Given the description of an element on the screen output the (x, y) to click on. 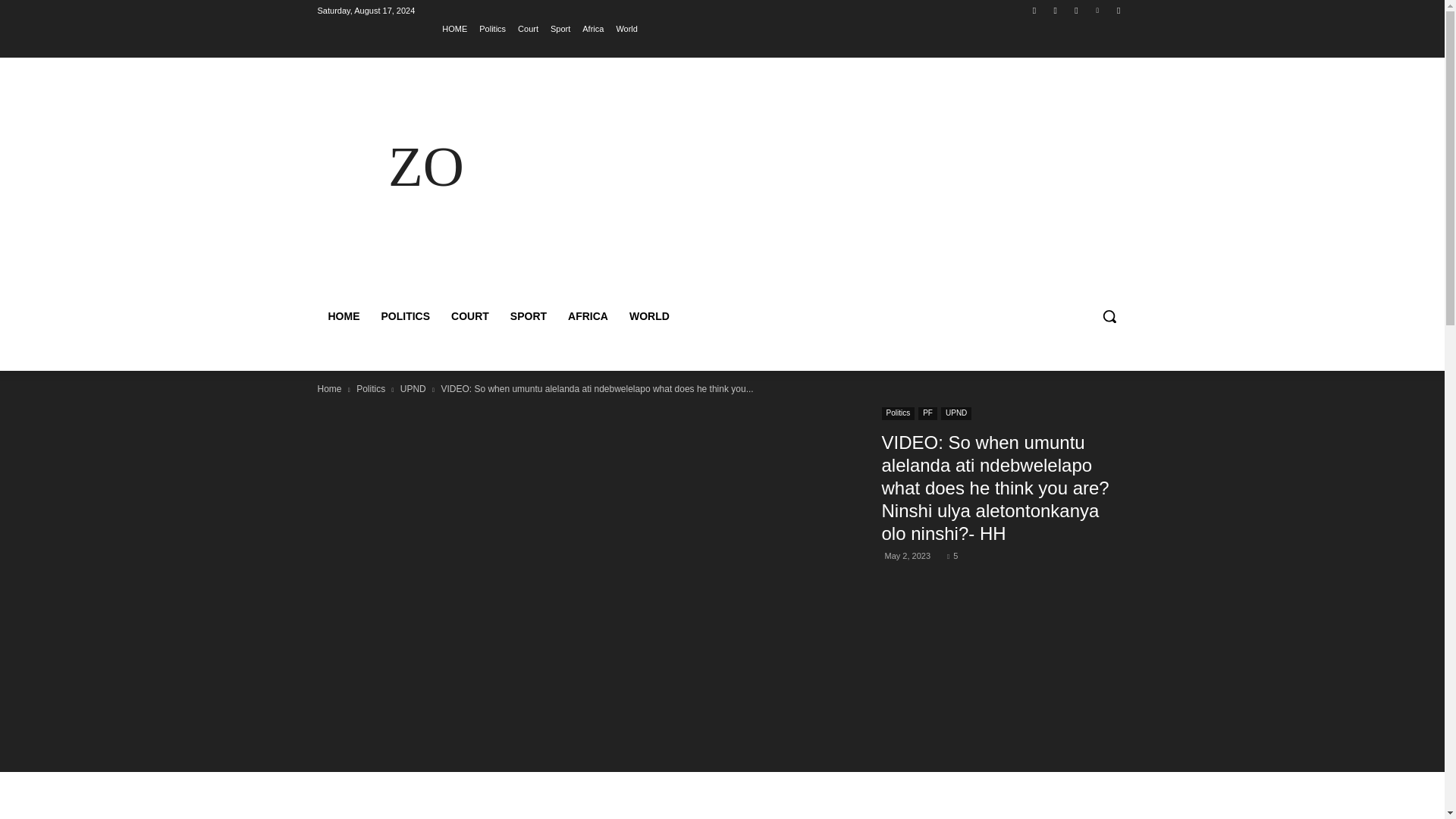
Vimeo (1097, 9)
Home (328, 388)
POLITICS (405, 316)
AFRICA (587, 316)
Twitter (1075, 9)
UPND (413, 388)
Advertisement (854, 184)
ZO (425, 167)
Youtube (1117, 9)
World (626, 28)
